Given the description of an element on the screen output the (x, y) to click on. 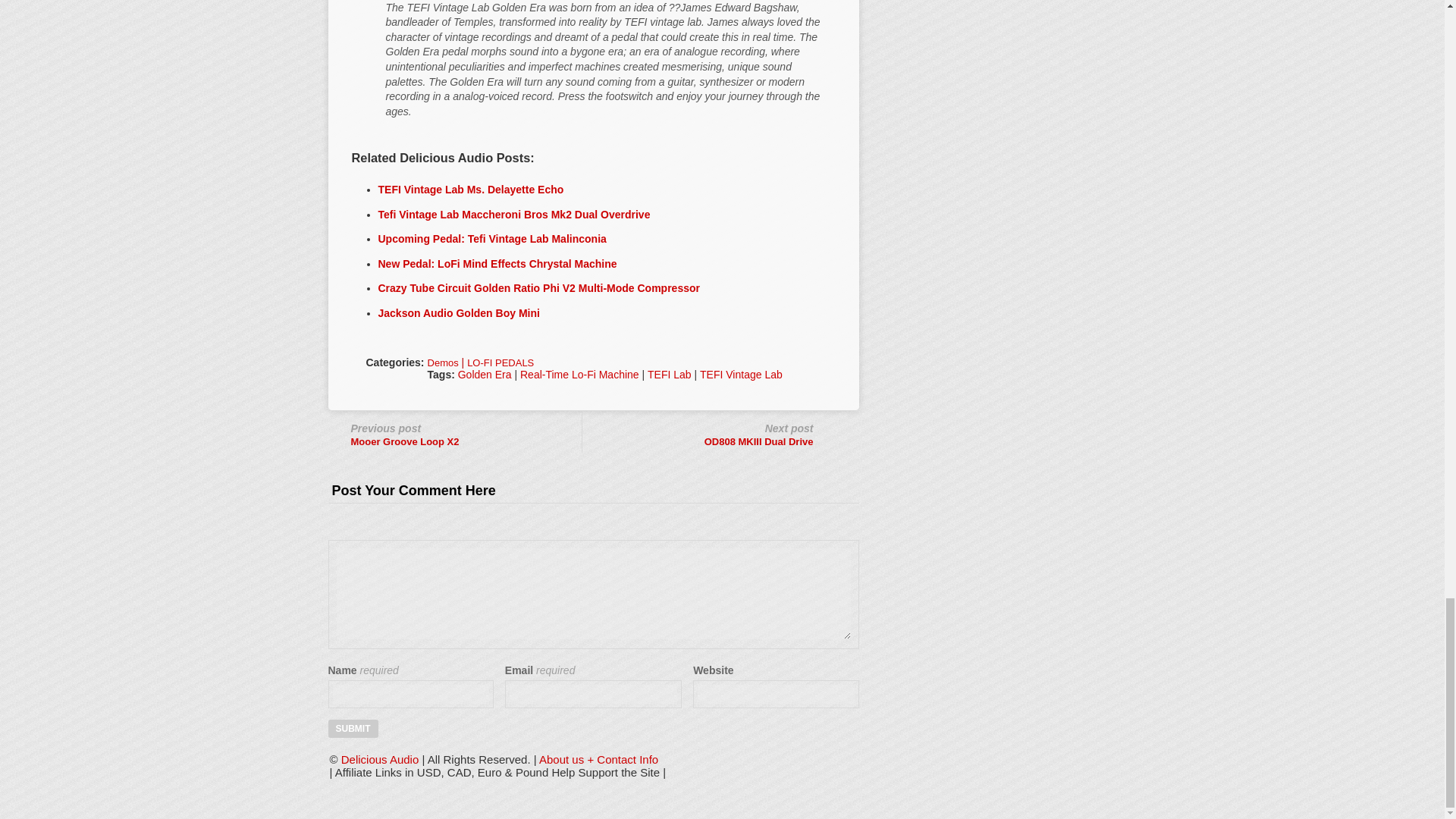
View all posts tagged Golden Era (485, 374)
View all posts tagged Real-Time Lo-Fi Machine (579, 374)
View all posts tagged TEFI Vintage Lab (741, 374)
View all posts tagged TEFI Lab (669, 374)
